Given the description of an element on the screen output the (x, y) to click on. 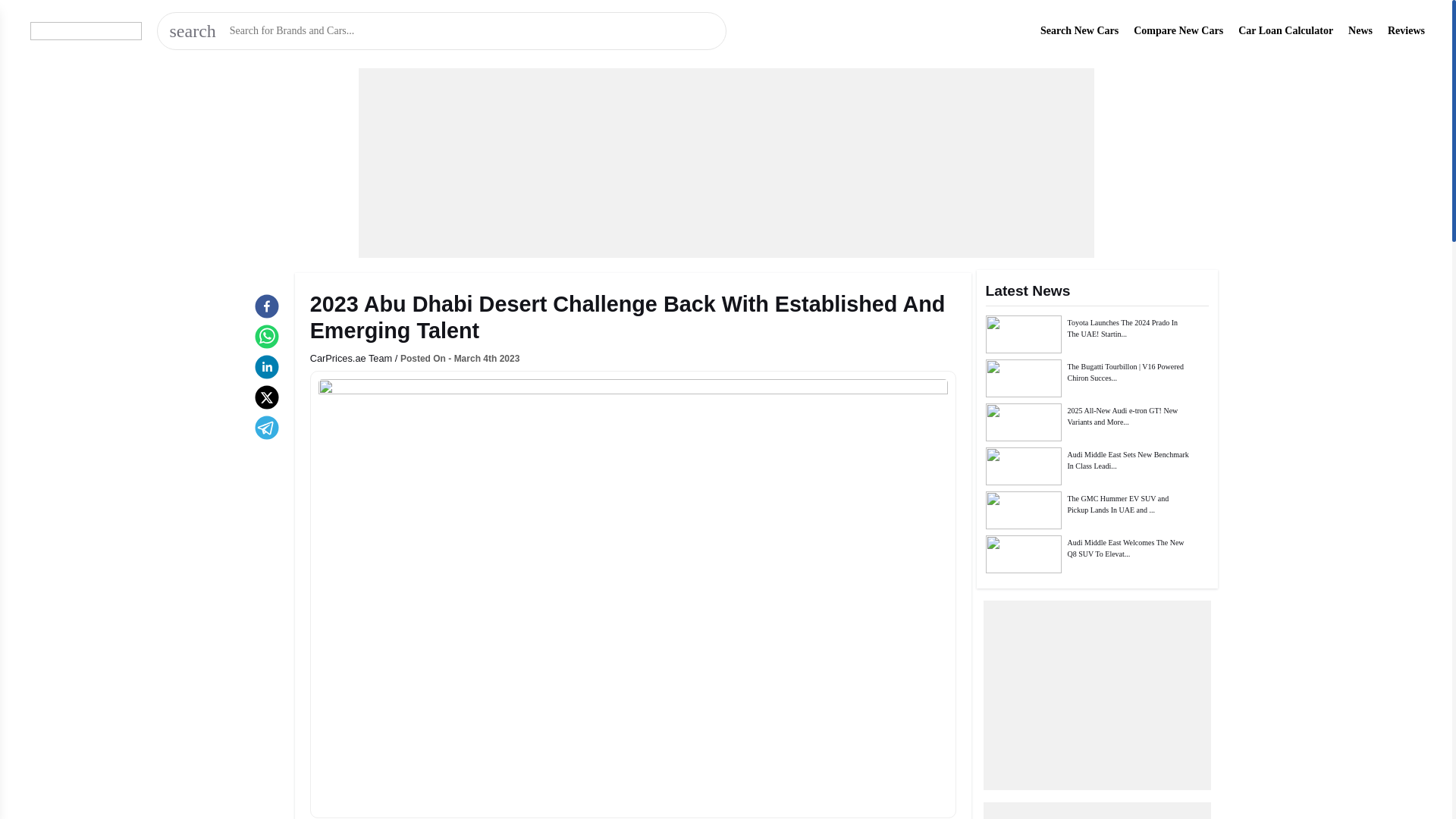
News (1360, 30)
Search New Cars (1079, 30)
Car Loan Calculator (1286, 30)
Compare New Cars (1178, 30)
Reviews (1406, 30)
